Given the description of an element on the screen output the (x, y) to click on. 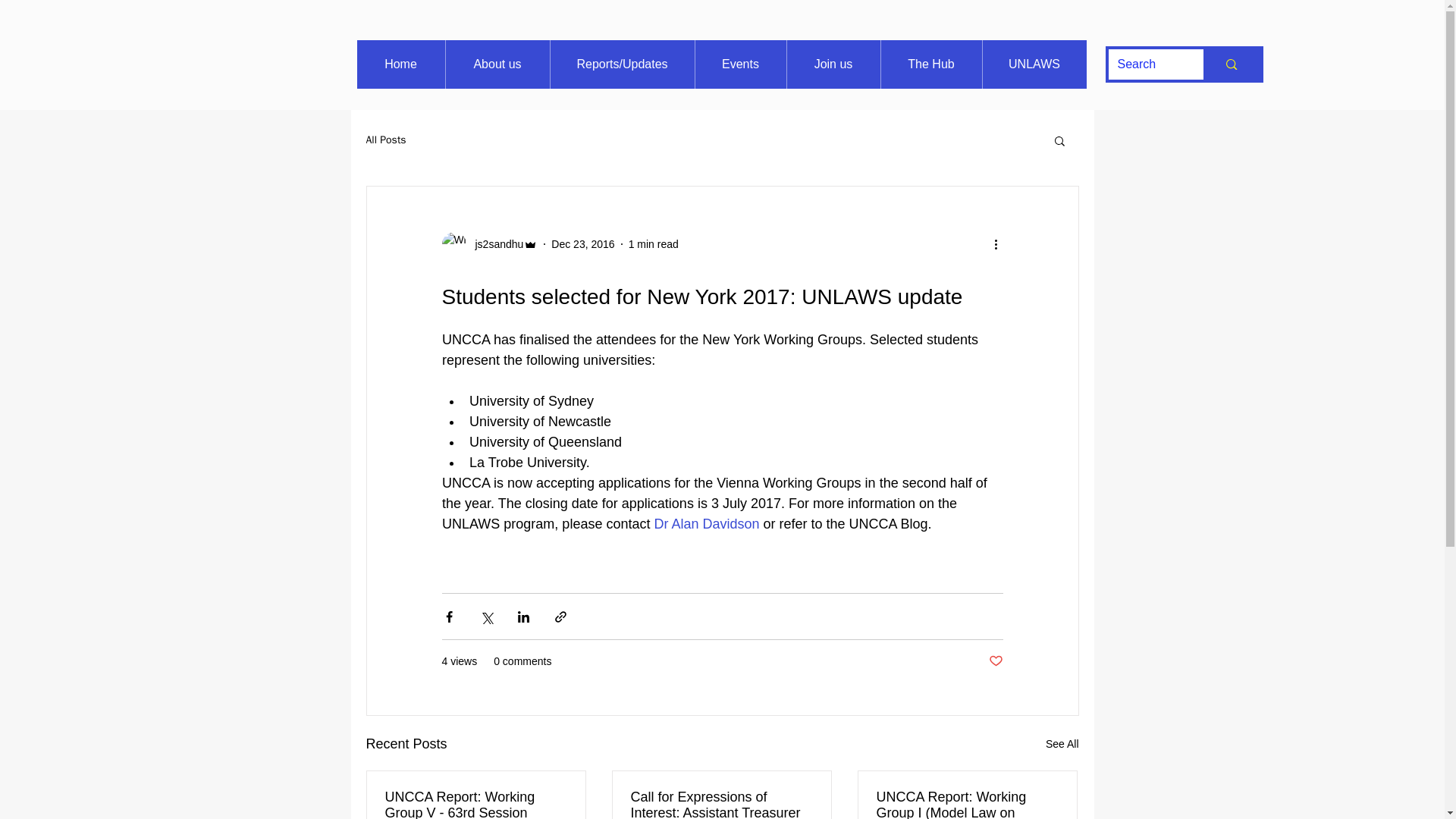
Join us (832, 64)
Call for Expressions of Interest: Assistant Treasurer (721, 804)
UNCCA Report: Working Group V - 63rd Session (476, 804)
Dec 23, 2016 (582, 244)
js2sandhu (493, 244)
About us (496, 64)
See All (1061, 744)
Dr Alan Davidson (705, 523)
Post not marked as liked (995, 661)
js2sandhu (489, 243)
